Given the description of an element on the screen output the (x, y) to click on. 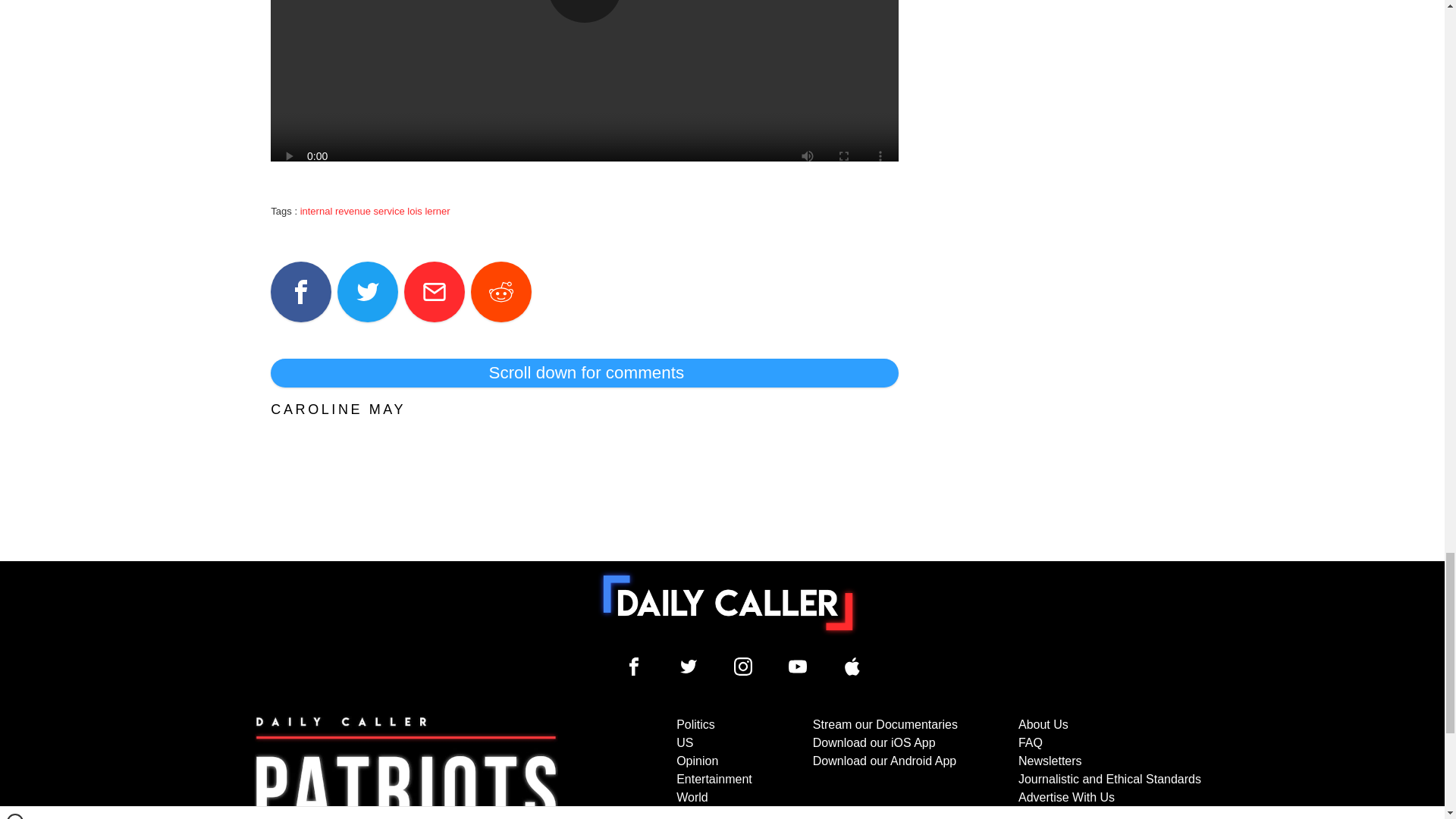
Play Video (584, 11)
To home page (727, 602)
Scroll down for comments (584, 372)
